Given the description of an element on the screen output the (x, y) to click on. 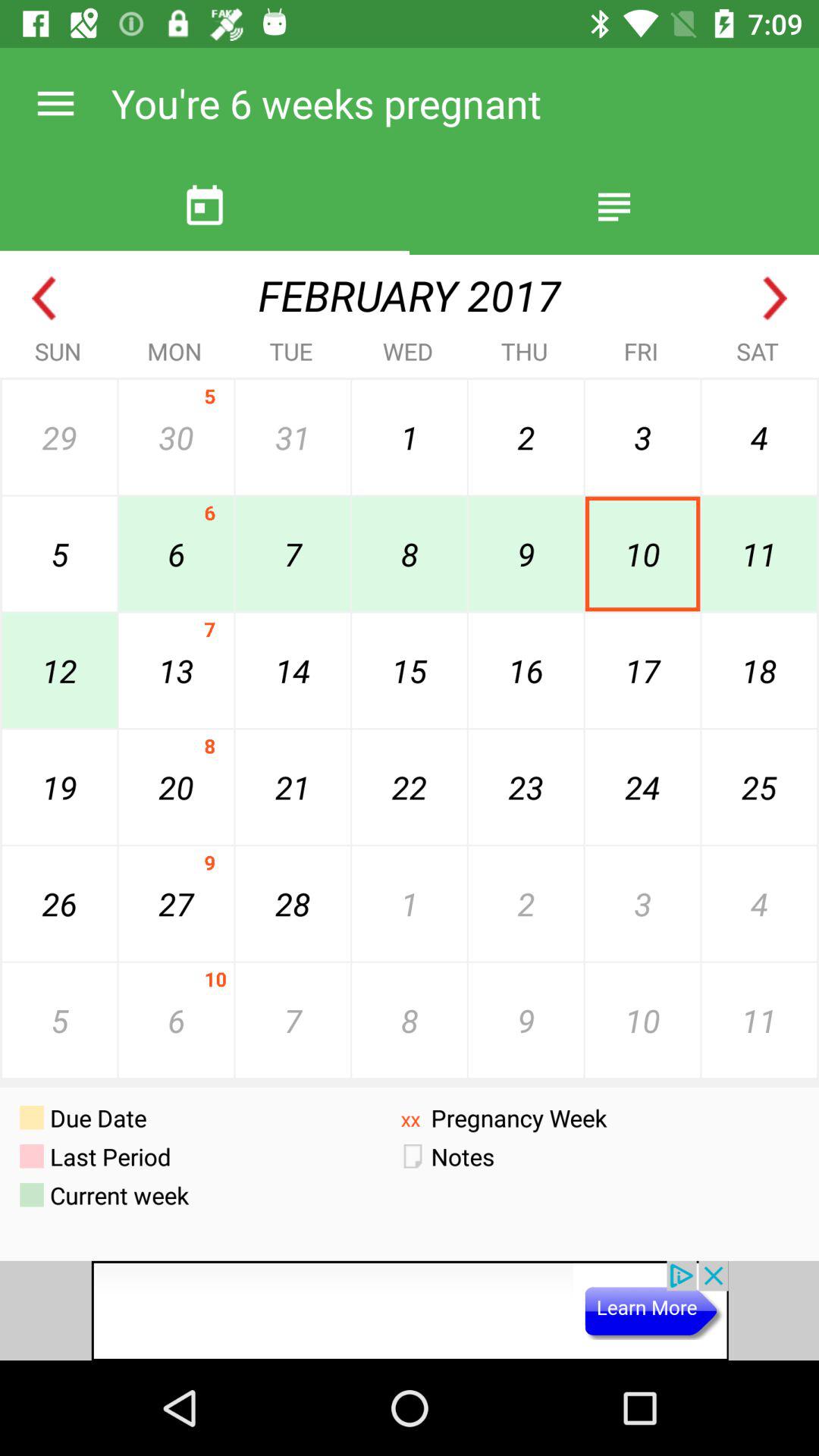
open advertisement (409, 1310)
